Given the description of an element on the screen output the (x, y) to click on. 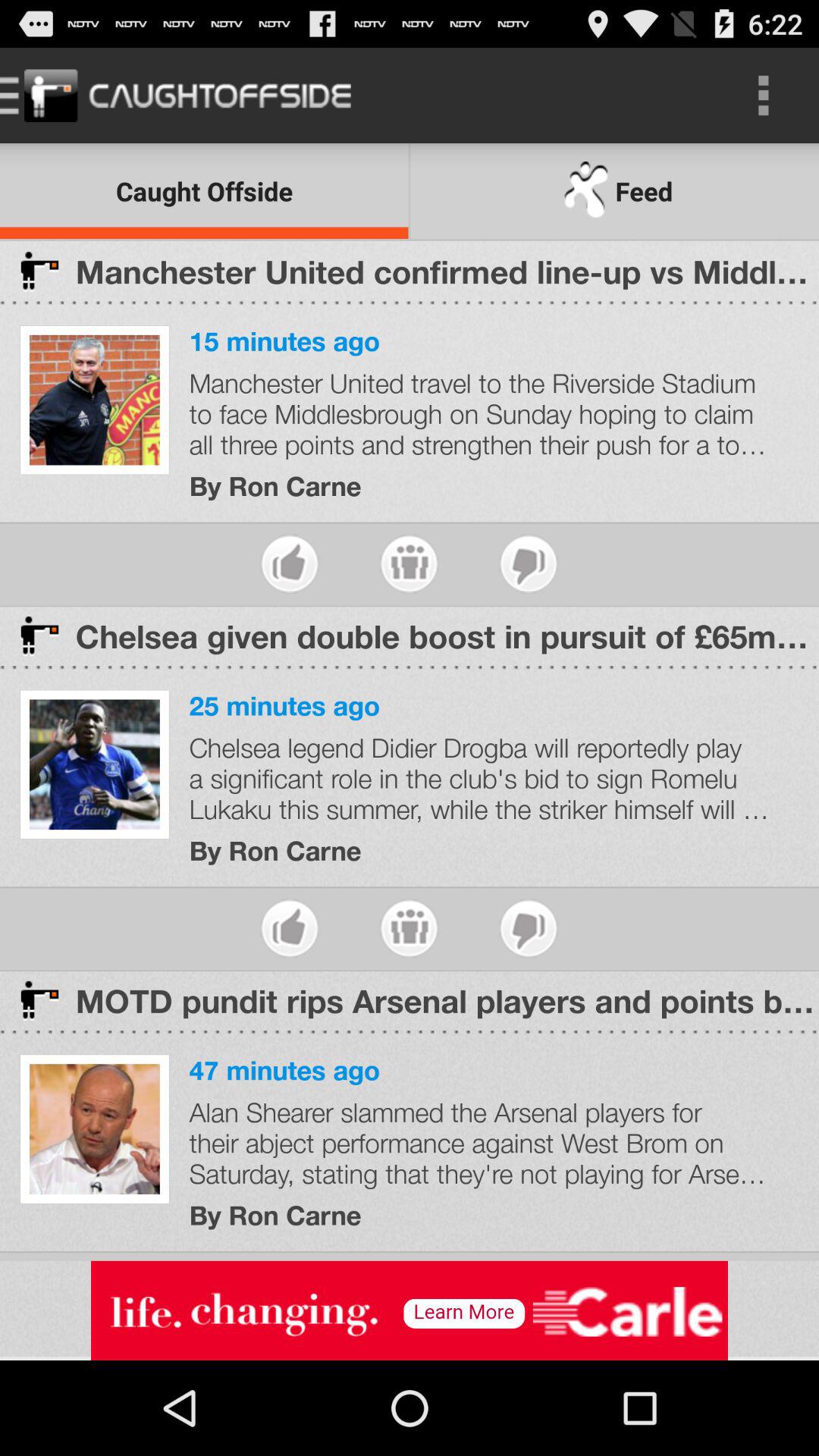
like the article (289, 563)
